Given the description of an element on the screen output the (x, y) to click on. 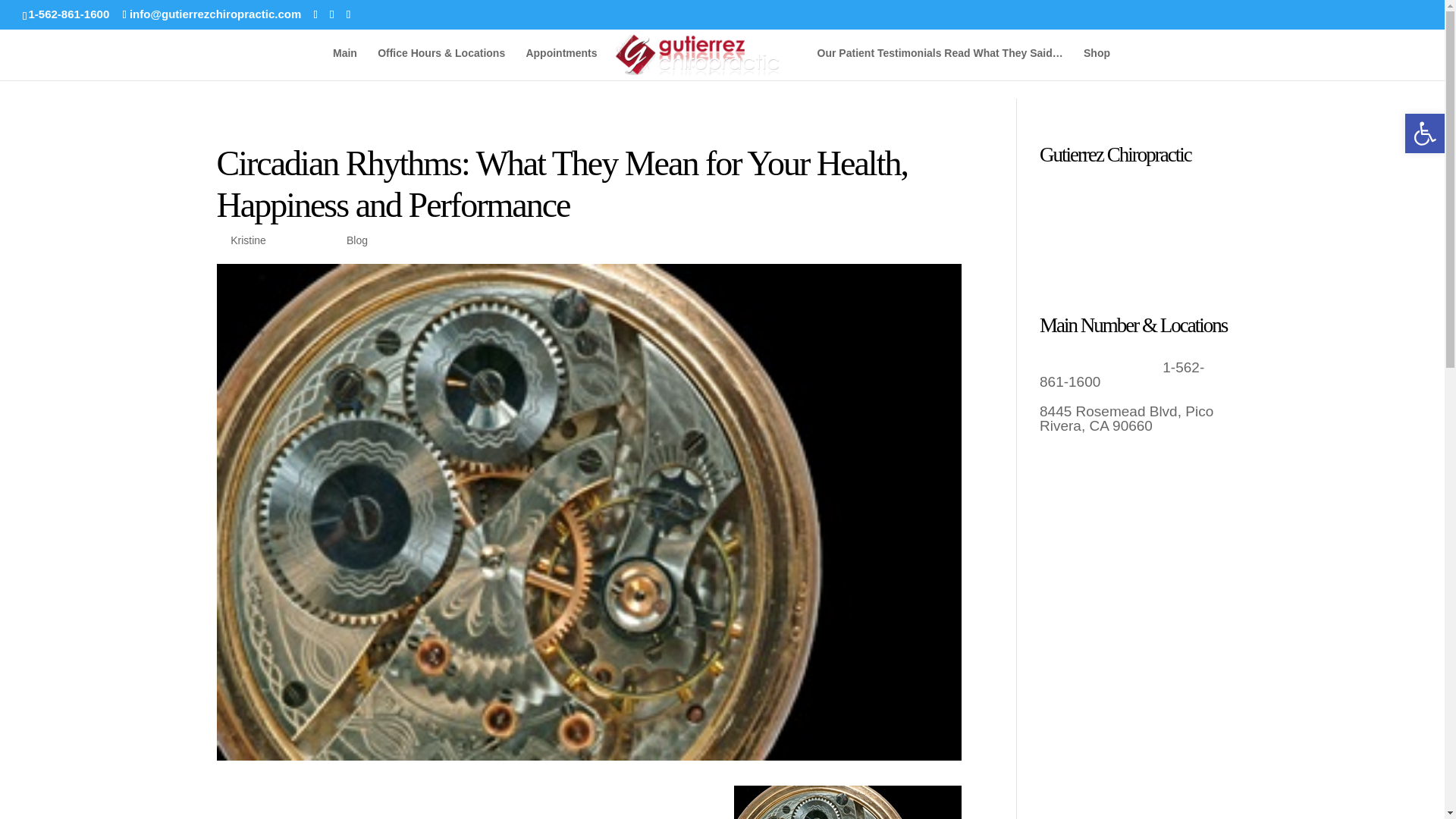
Blog (357, 240)
8445 Rosemead Blvd, Pico Rivera, CA 90660 (1125, 418)
Gutierrez Chiropractic Pico Rivera 90660 (344, 63)
Accessibility Tools (1424, 133)
Kristine (248, 240)
1-562-861-1600 (68, 13)
Shop (1096, 63)
1-562-861-1600 (1121, 374)
Appointments (560, 63)
Beautiful old clock machine (846, 802)
Posts by Kristine (248, 240)
Main (344, 63)
